Given the description of an element on the screen output the (x, y) to click on. 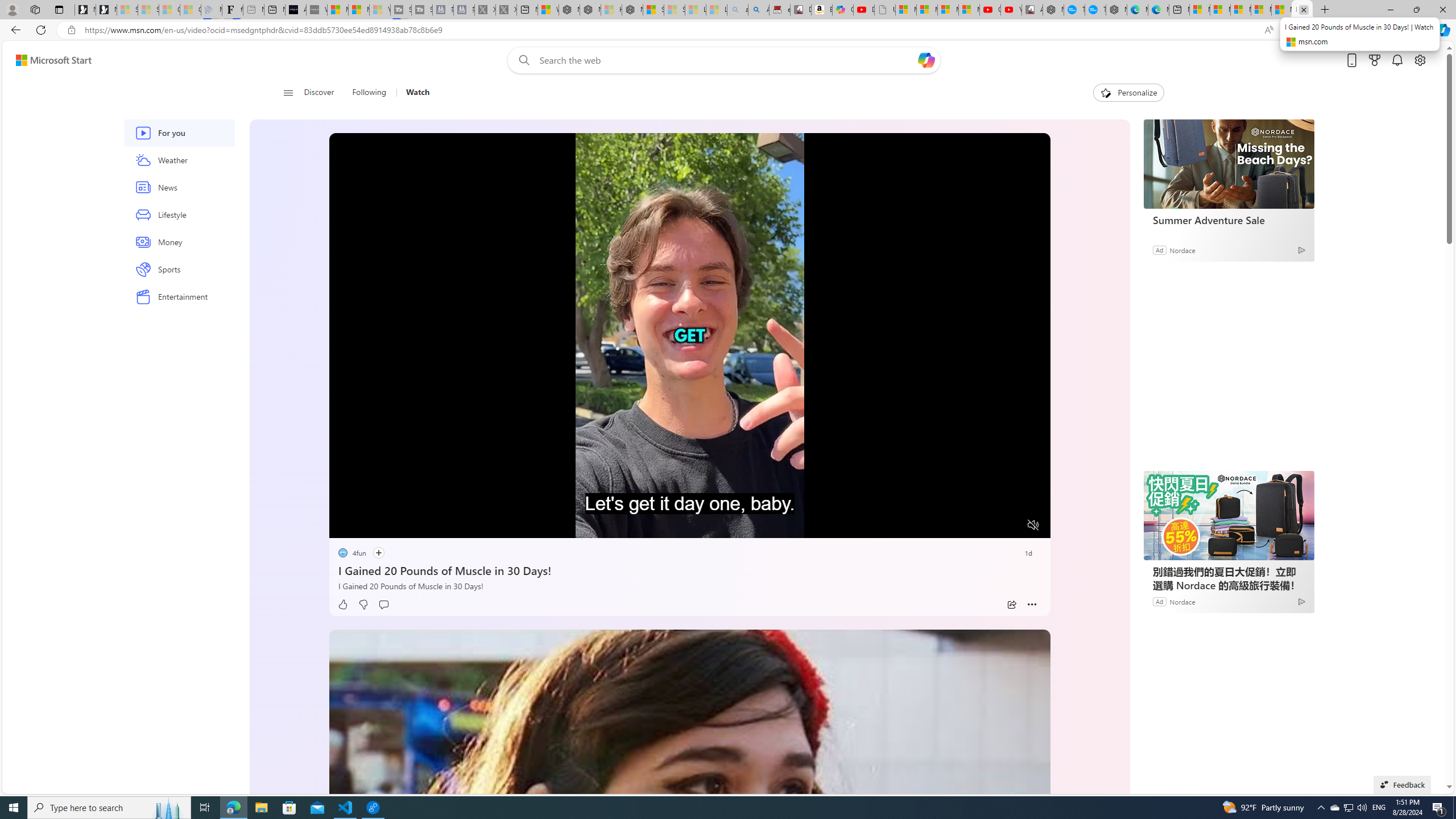
Close tab (1303, 9)
Seek Back (368, 525)
Class: button-glyph (287, 92)
Fullscreen (1011, 525)
Follow (378, 553)
Enter your search term (726, 59)
View site information (70, 29)
Read aloud this page (Ctrl+Shift+U) (1268, 29)
To get missing image descriptions, open the context menu. (1105, 92)
All Cubot phones (1032, 9)
Nordace - My Account (1053, 9)
AI Voice Changer for PC and Mac - Voice.ai (296, 9)
The most popular Google 'how to' searches (1095, 9)
